Given the description of an element on the screen output the (x, y) to click on. 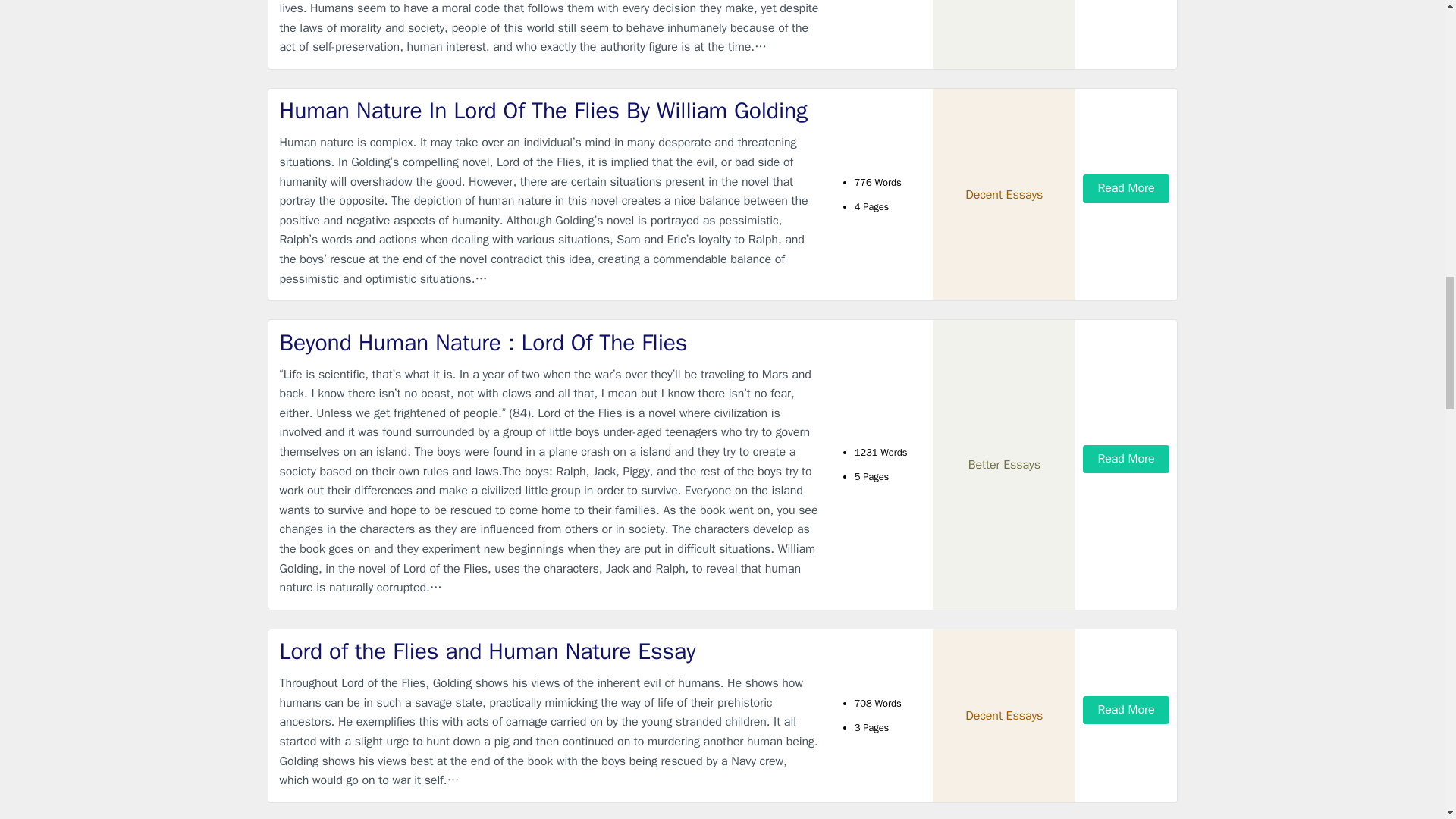
Read More (1126, 459)
Human Nature In Lord Of The Flies By William Golding (548, 110)
Beyond Human Nature : Lord Of The Flies (548, 342)
Read More (1126, 709)
Read More (1126, 188)
Lord of the Flies and Human Nature Essay (548, 651)
